Given the description of an element on the screen output the (x, y) to click on. 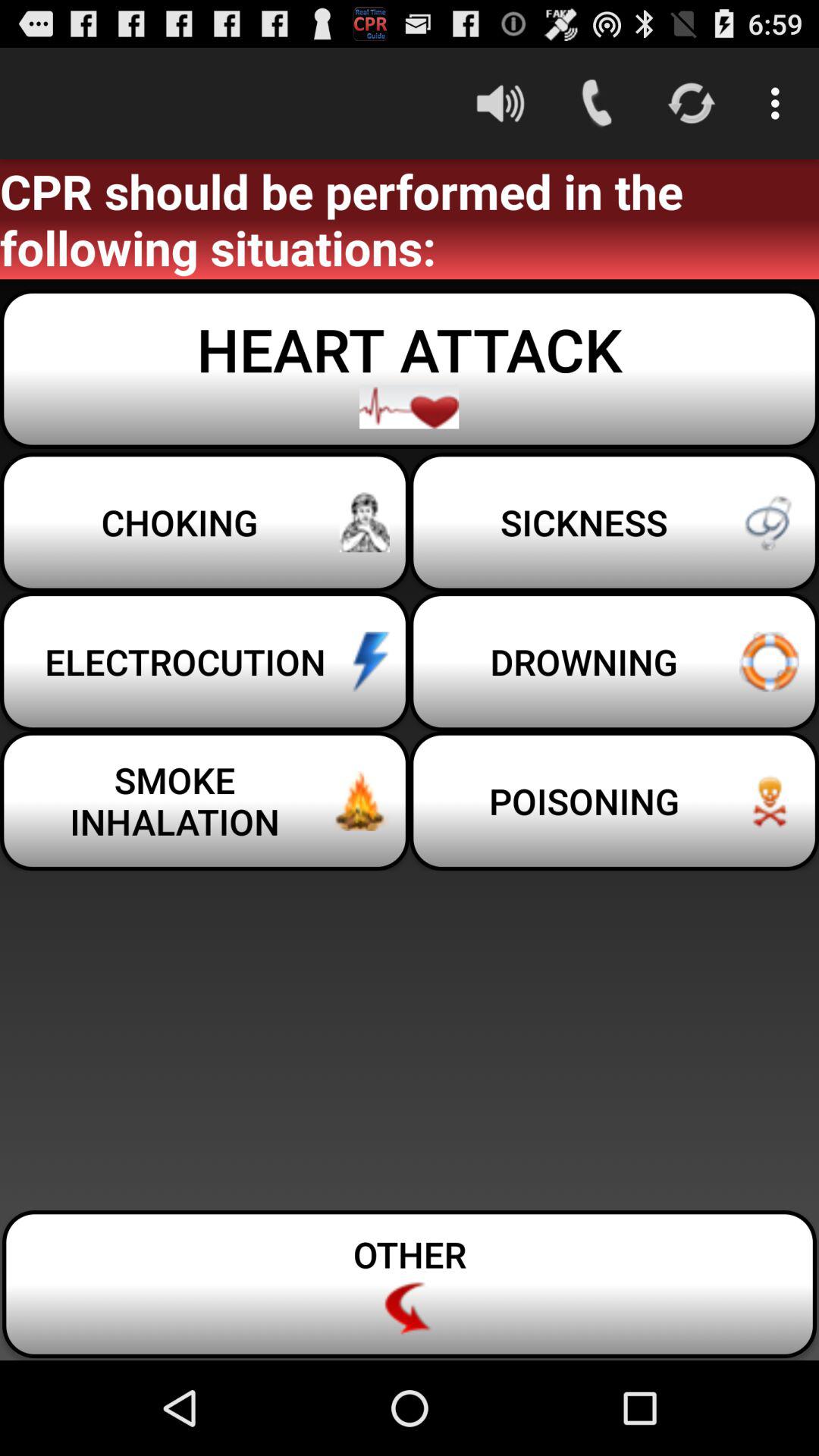
press item below heart attack item (204, 522)
